Given the description of an element on the screen output the (x, y) to click on. 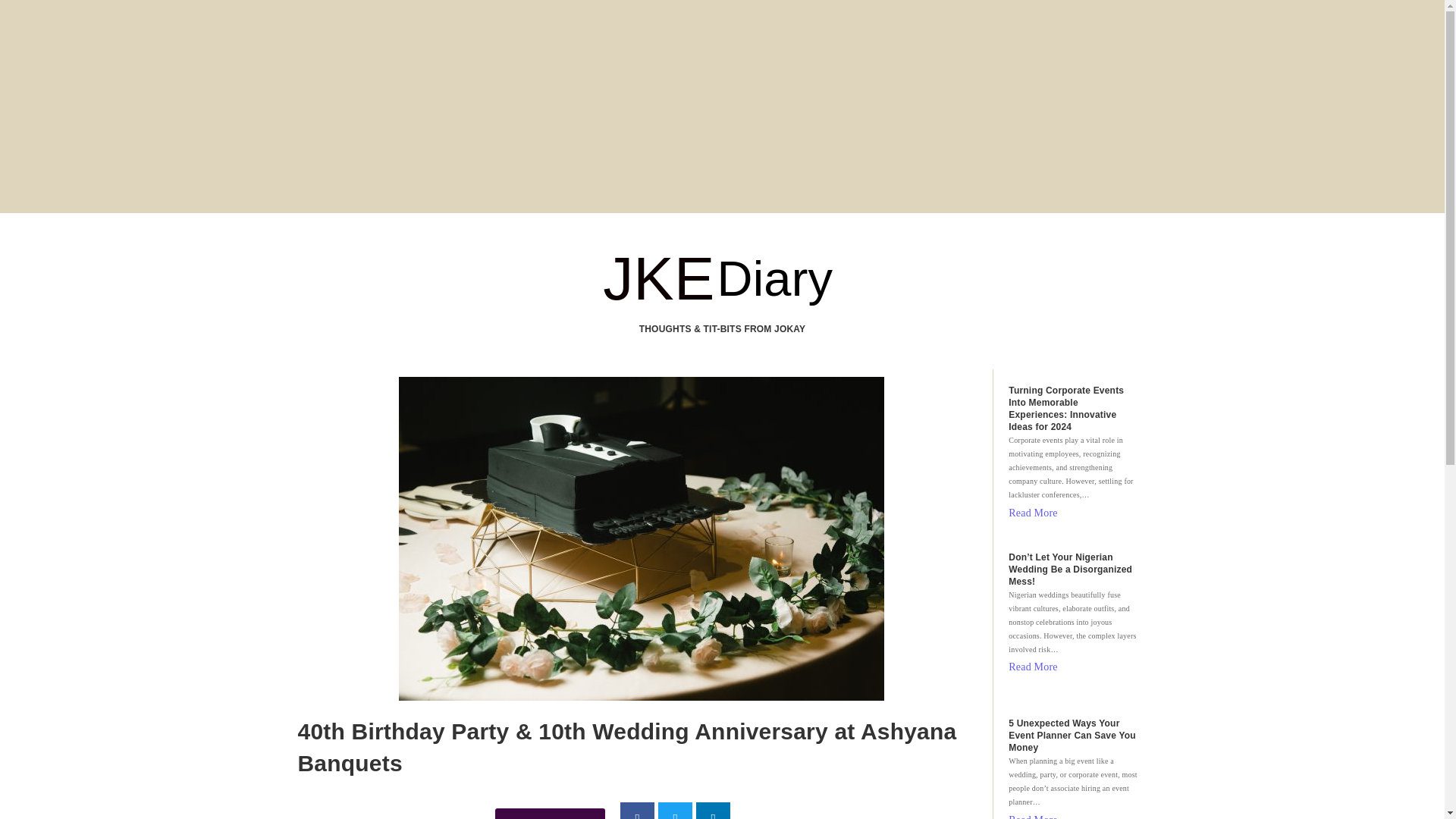
Read More (1033, 512)
Read More (1033, 666)
Read More (1033, 814)
5 Unexpected Ways Your Event Planner Can Save You Money (1073, 735)
Share this diary (550, 813)
